Given the description of an element on the screen output the (x, y) to click on. 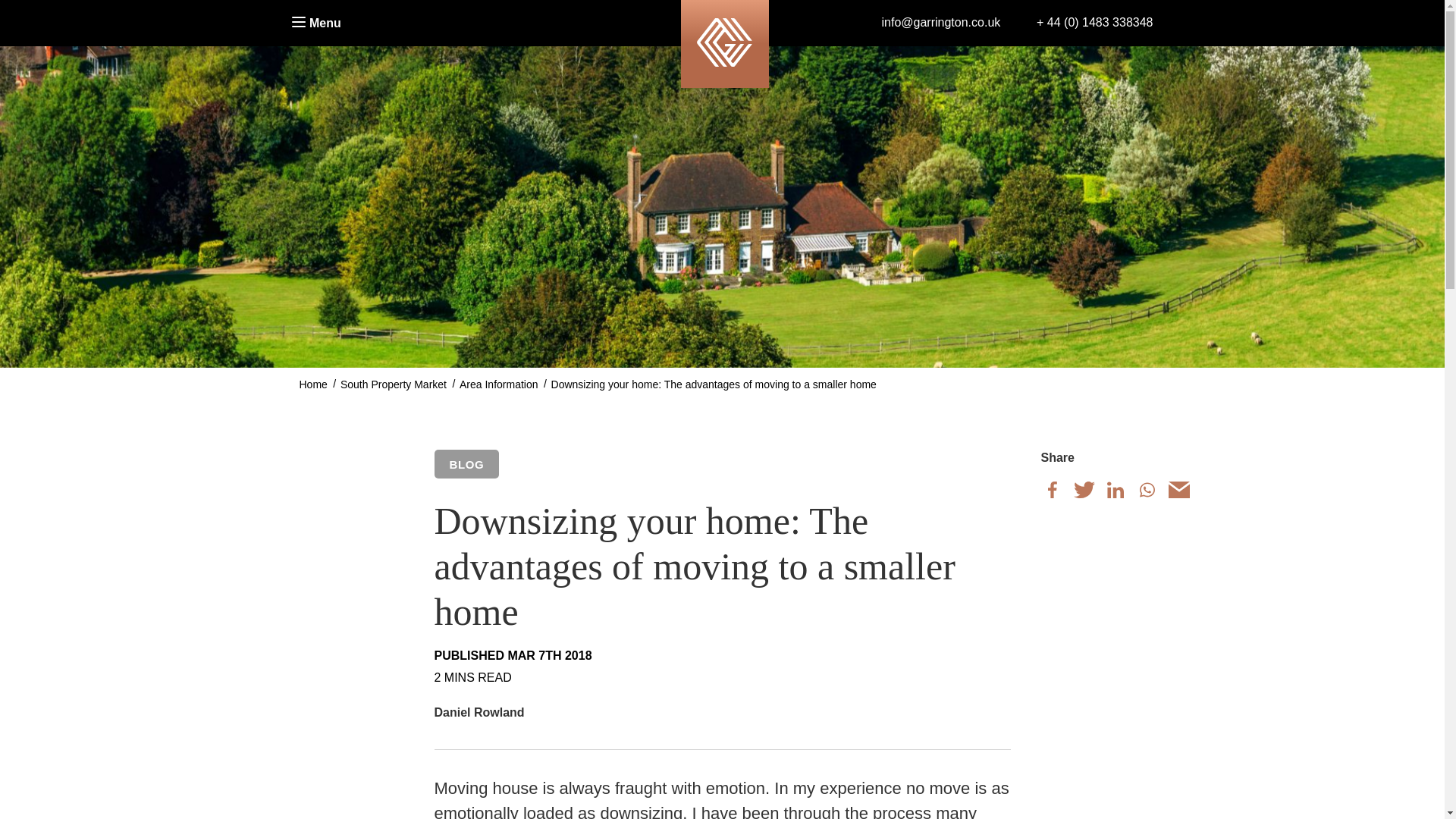
Share post via Facebook (1052, 490)
Area Information (499, 384)
Share post via WhatsApp (1146, 490)
Share post via Twitter (1083, 490)
Share post via WhatsApp (1146, 490)
Share post via Facebook (1052, 490)
South Property Market (393, 384)
Share post via LinkedIn (1114, 490)
Home (312, 384)
Share post via Twitter (1083, 490)
